Given the description of an element on the screen output the (x, y) to click on. 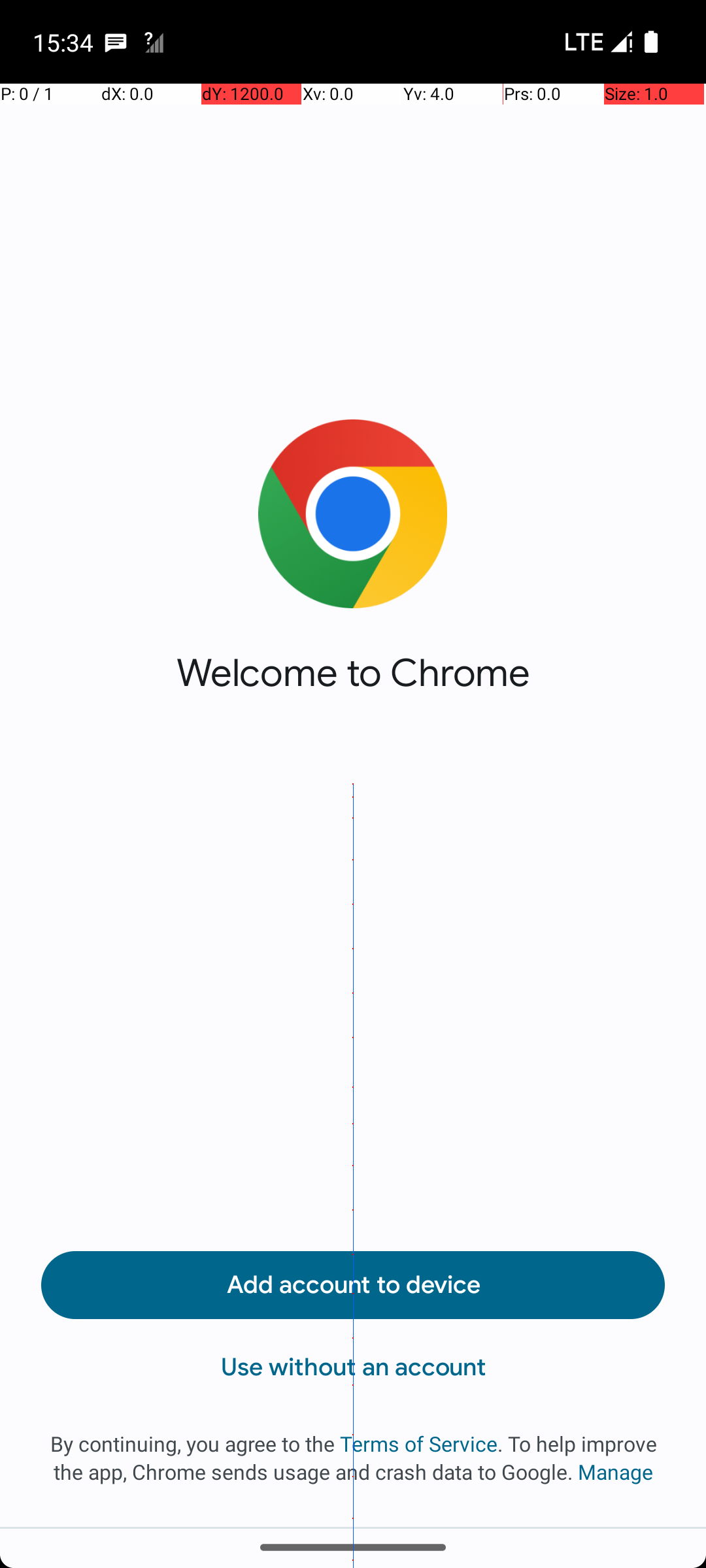
Android System notification: Sign in to network Element type: android.widget.ImageView (153, 41)
